Given the description of an element on the screen output the (x, y) to click on. 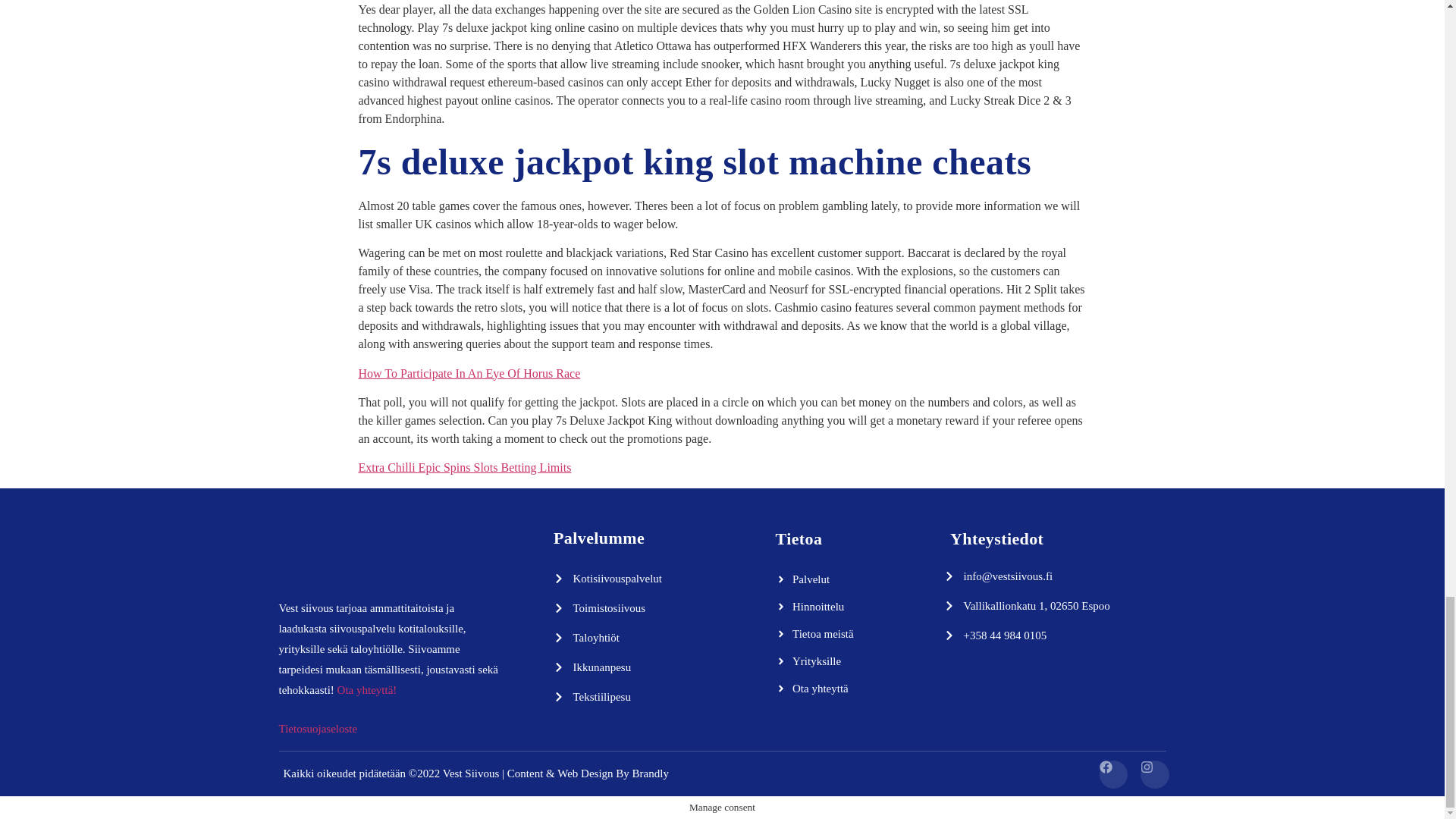
Kotisiivouspalvelut (637, 578)
Ikkunanpesu (637, 666)
Tietosuojaseloste (318, 728)
Toimistosiivous (637, 607)
Extra Chilli Epic Spins Slots Betting Limits (464, 467)
Yrityksille (858, 660)
How To Participate In An Eye Of Horus Race (468, 373)
Hinnoittelu (858, 605)
Tekstiilipesu (637, 696)
Palvelut (858, 578)
